Given the description of an element on the screen output the (x, y) to click on. 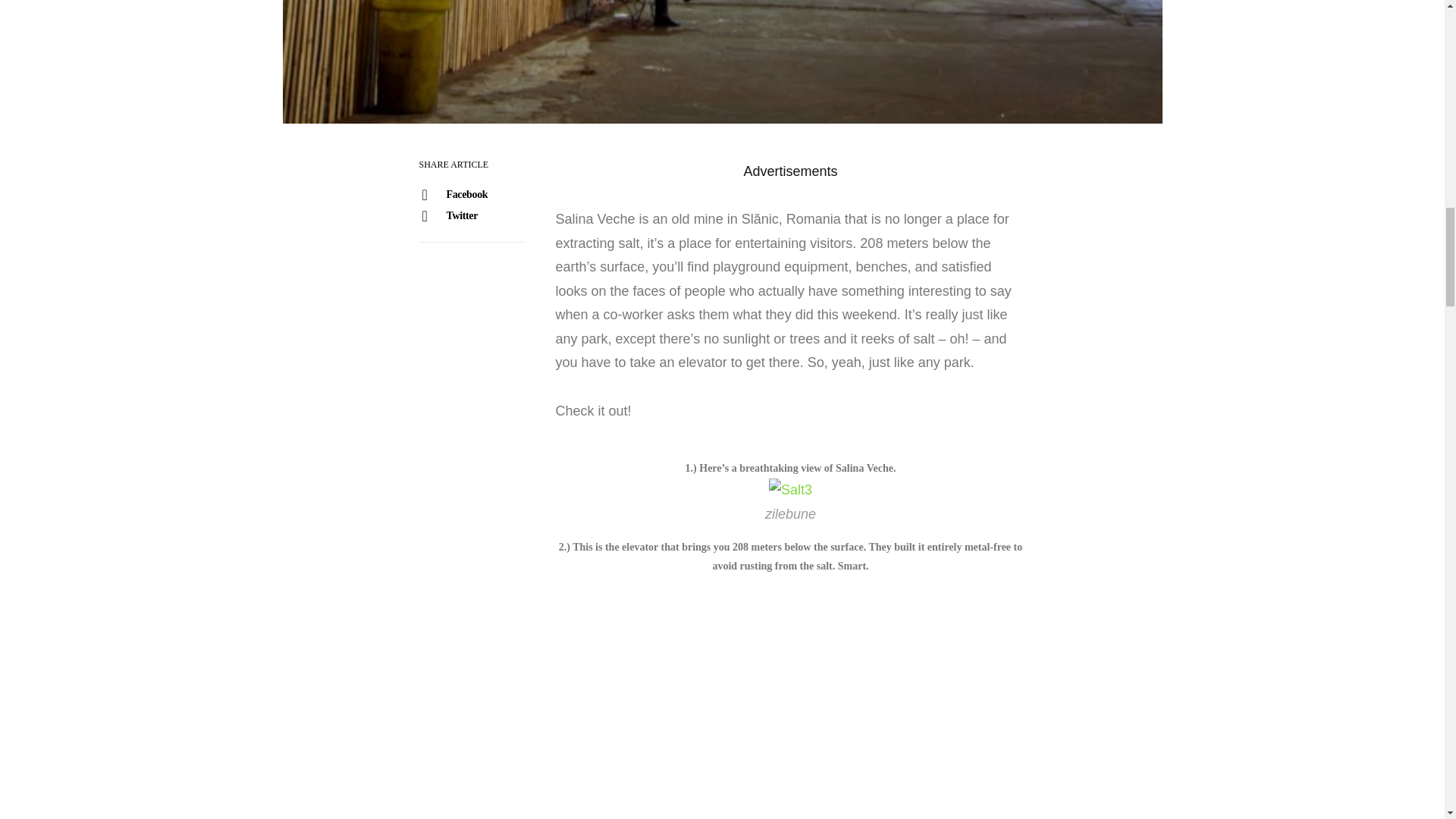
Facebook (470, 194)
zilebune (790, 513)
Twitter (470, 215)
